Given the description of an element on the screen output the (x, y) to click on. 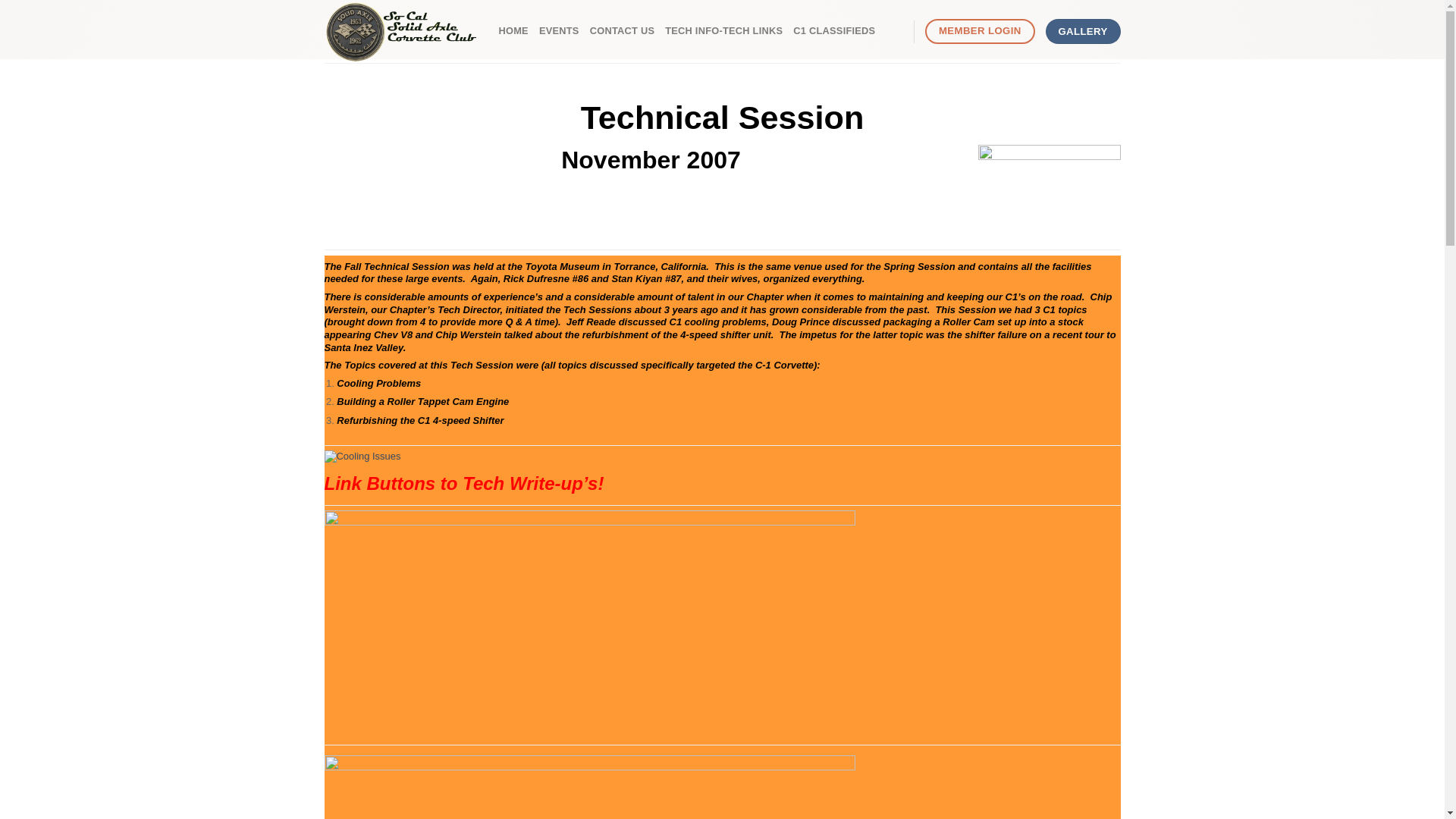
C1 CLASSIFIEDS (834, 30)
Welcome to Southern California SACC Chapter - SOCALSACC (400, 31)
HOME (513, 30)
MEMBER LOGIN (978, 31)
GALLERY (1083, 31)
CONTACT US (622, 30)
EVENTS (558, 30)
TECH INFO-TECH LINKS (724, 30)
